Given the description of an element on the screen output the (x, y) to click on. 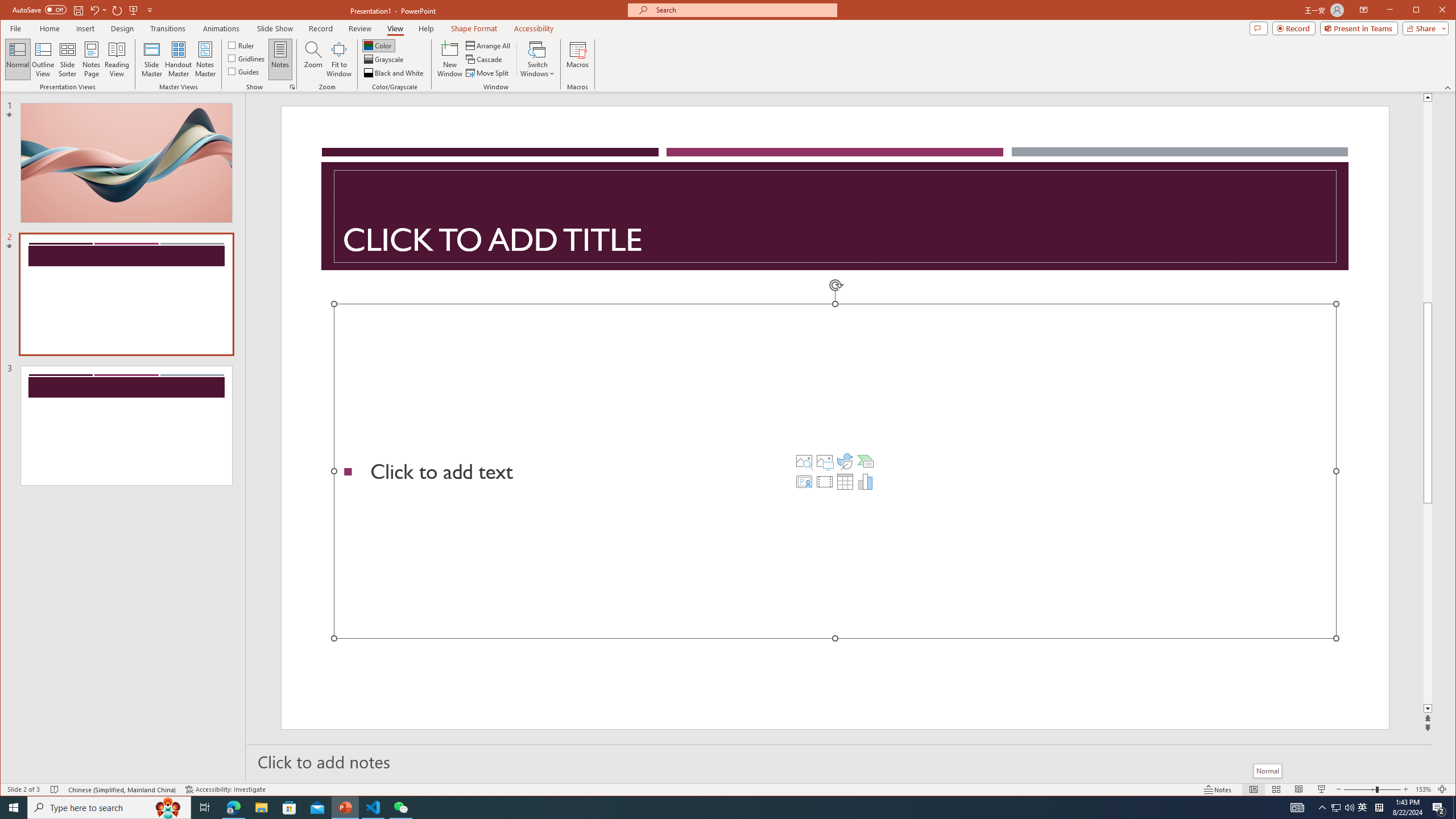
Gridlines (246, 57)
